Given the description of an element on the screen output the (x, y) to click on. 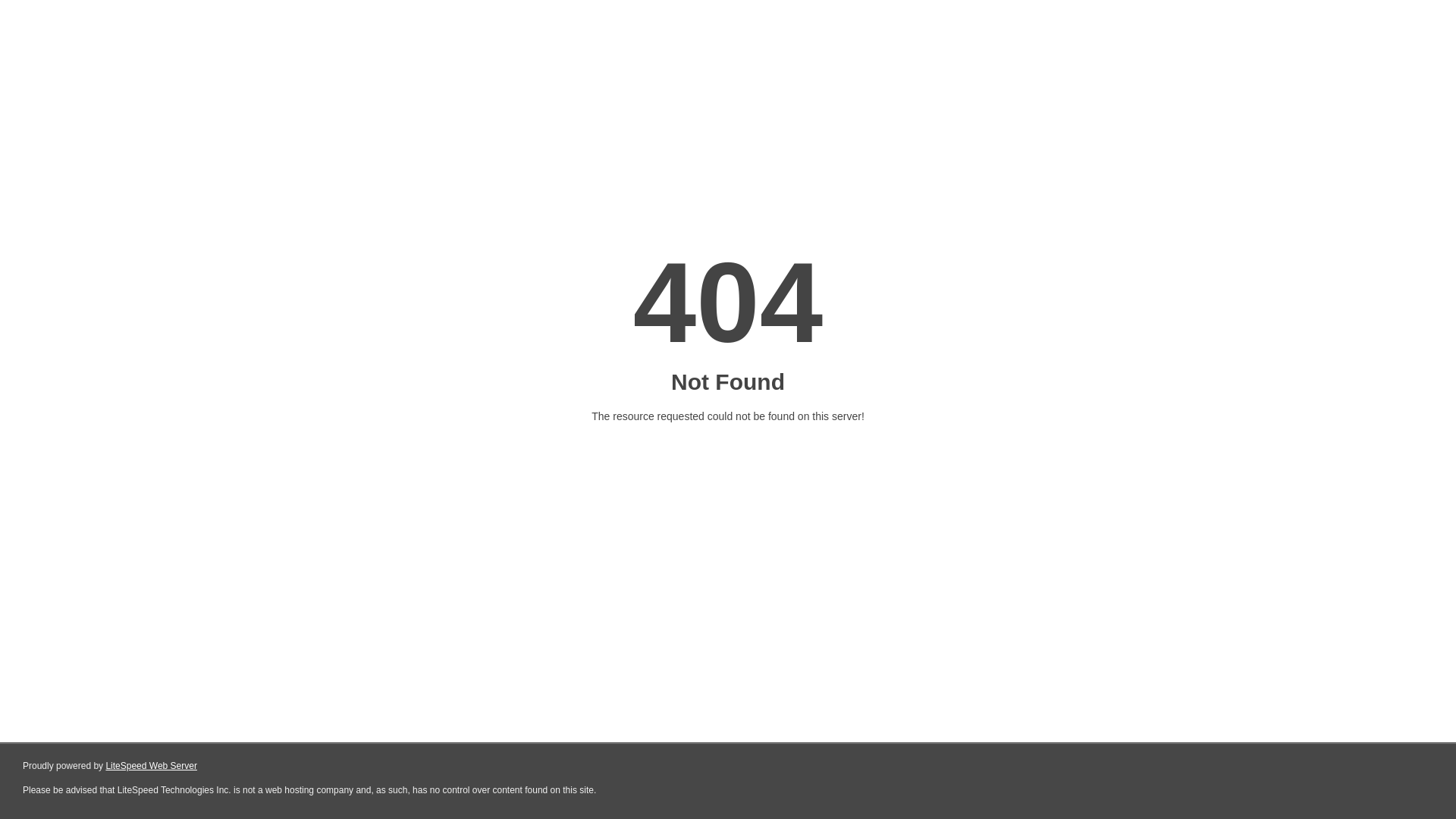
LiteSpeed Web Server Element type: text (151, 765)
